Given the description of an element on the screen output the (x, y) to click on. 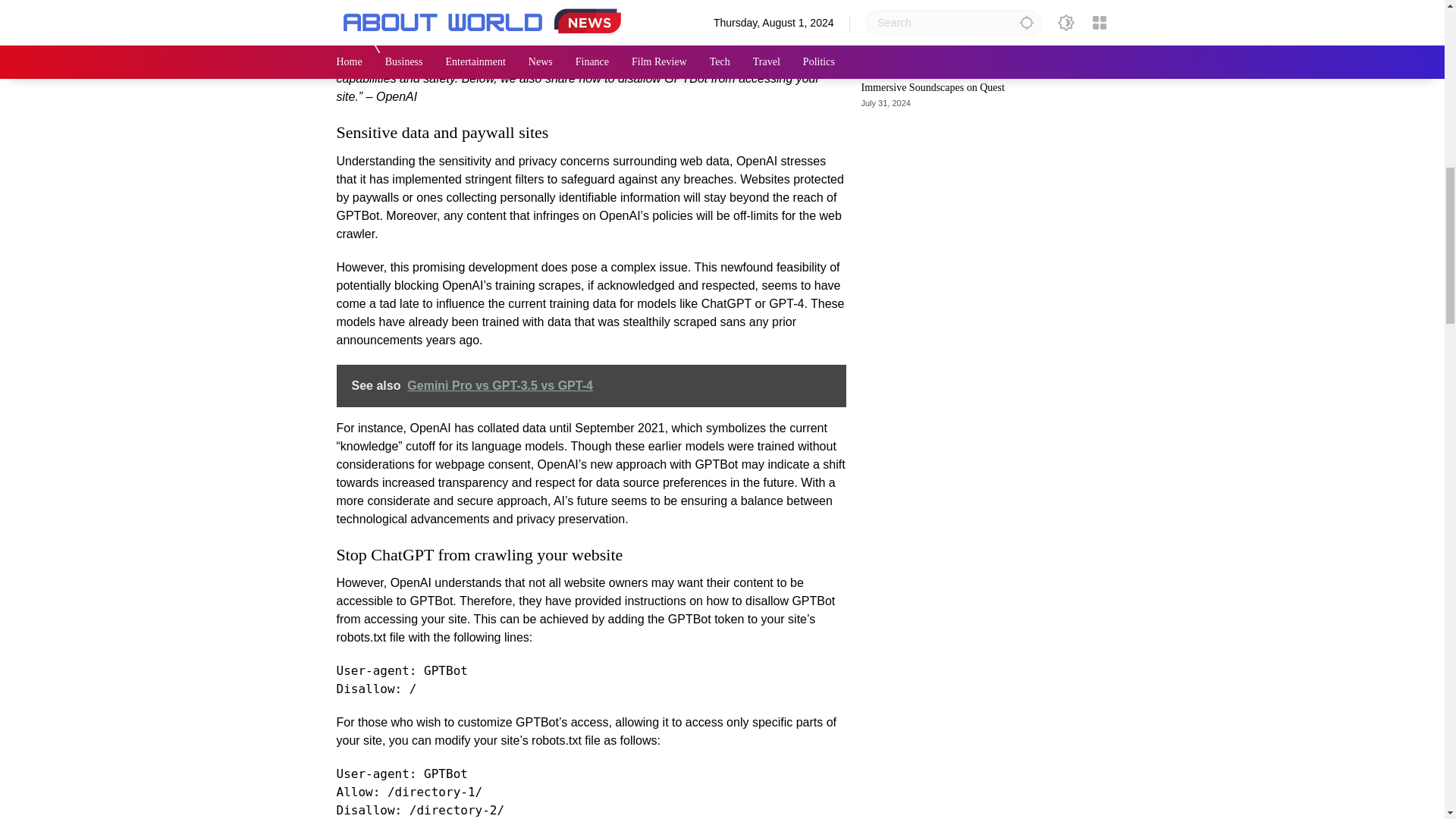
See also  Gemini Pro vs GPT-3.5 vs GPT-4 (590, 385)
